Given the description of an element on the screen output the (x, y) to click on. 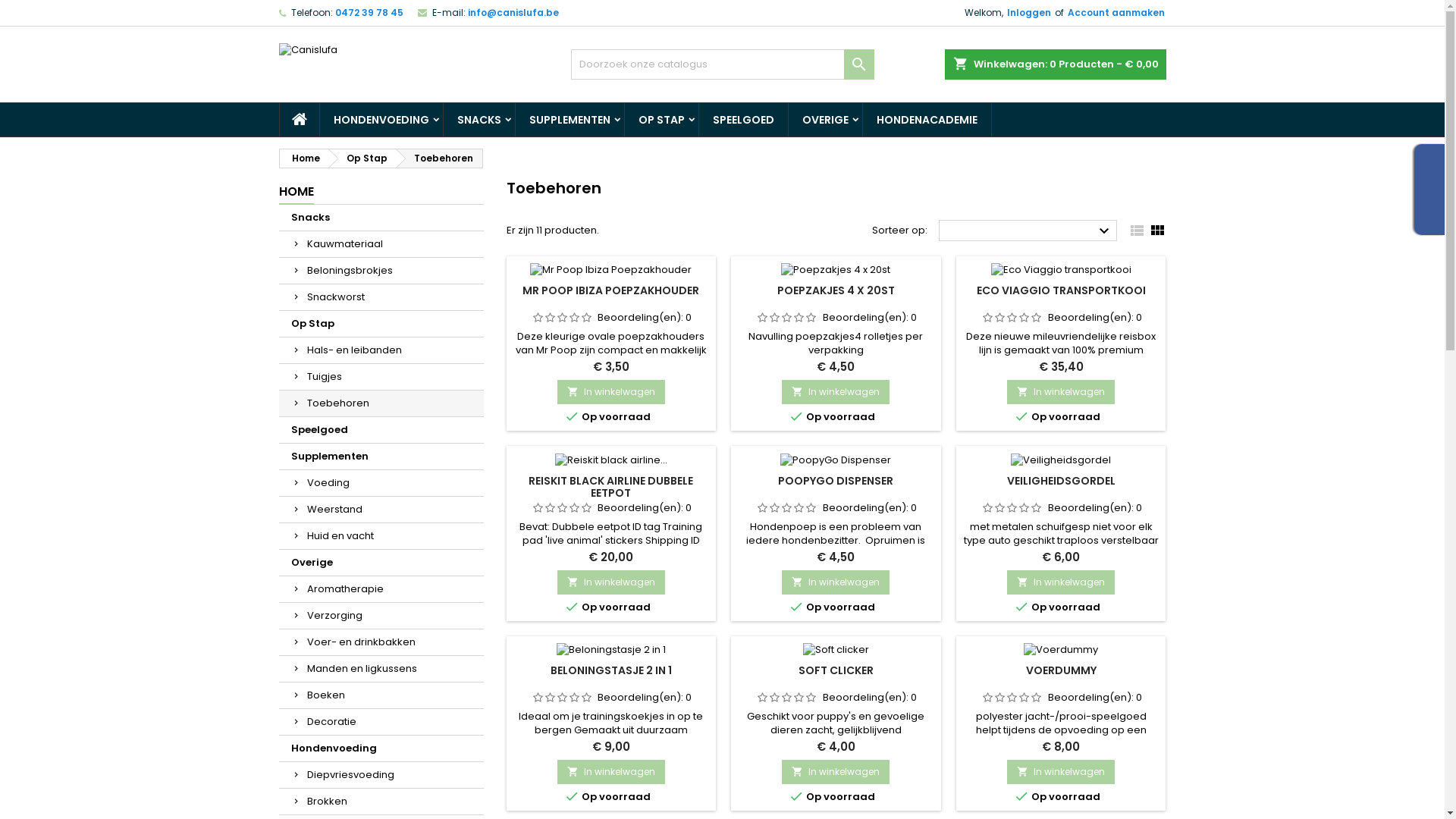
Verzorging Element type: text (381, 615)
REISKIT BLACK AIRLINE DUBBELE EETPOT Element type: text (610, 486)
ECO VIAGGIO TRANSPORTKOOI Element type: text (1060, 290)
HONDENACADEMIE Element type: text (926, 119)
Snacks Element type: text (381, 217)
OP STAP Element type: text (661, 119)
Kauwmateriaal Element type: text (381, 244)
BELONINGSTASJE 2 IN 1 Element type: text (610, 669)
HONDENVOEDING Element type: text (381, 119)
Manden en ligkussens Element type: text (381, 668)
VEILIGHEIDSGORDEL Element type: text (1061, 480)
Voer- en drinkbakken Element type: text (381, 642)
POOPYGO DISPENSER Element type: text (835, 480)
OVERIGE Element type: text (825, 119)
Diepvriesvoeding Element type: text (381, 775)
Boeken Element type: text (381, 695)
Weerstand Element type: text (381, 509)
Toebehoren Element type: text (439, 158)
Overige Element type: text (381, 562)
Account aanmaken Element type: text (1116, 12)
Op Stap Element type: text (361, 158)
Voeding Element type: text (381, 483)
Supplementen Element type: text (381, 456)
SOFT CLICKER Element type: text (835, 669)
Hondenvoeding Element type: text (381, 748)
Snackworst Element type: text (381, 297)
Hals- en leibanden Element type: text (381, 350)
Beloningsbrokjes Element type: text (381, 270)
SUPPLEMENTEN Element type: text (569, 119)
Op Stap Element type: text (381, 323)
Speelgoed Element type: text (381, 430)
HOME Element type: text (296, 192)
Home Element type: text (302, 158)
Decoratie Element type: text (381, 722)
MR POOP IBIZA POEPZAKHOUDER Element type: text (610, 290)
Tuigjes Element type: text (381, 377)
POEPZAKJES 4 X 20ST Element type: text (835, 290)
SNACKS Element type: text (478, 119)
Inloggen Element type: text (1028, 12)
SPEELGOED Element type: text (743, 119)
Huid en vacht Element type: text (381, 536)
Brokken Element type: text (381, 801)
Aromatherapie Element type: text (381, 589)
VOERDUMMY Element type: text (1061, 669)
Toebehoren Element type: text (381, 403)
info@canislufa.be Element type: text (512, 12)
